Given the description of an element on the screen output the (x, y) to click on. 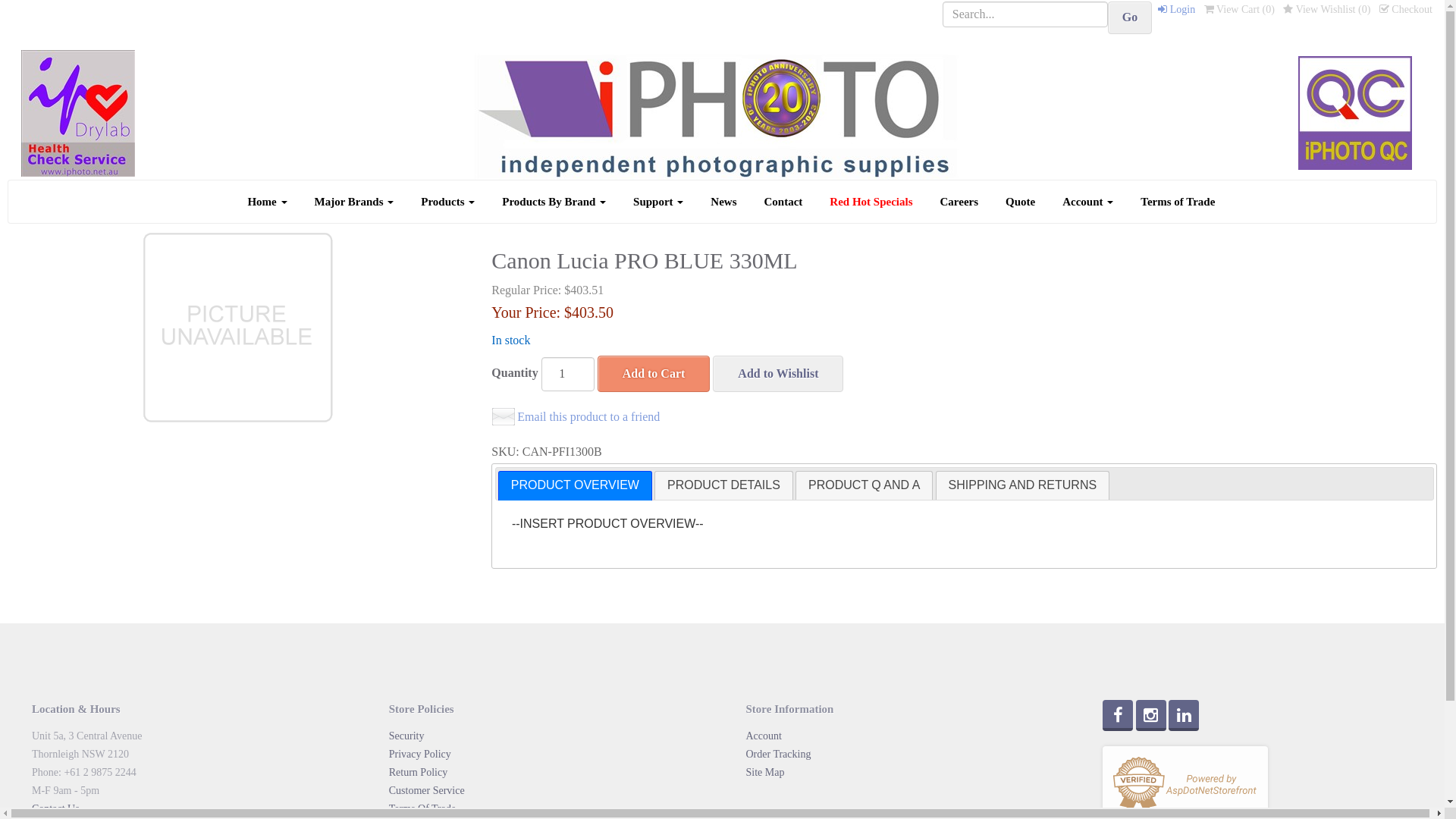
Customer Service Element type: text (426, 790)
Careers Element type: text (959, 201)
Account Element type: text (1087, 201)
View Wishlist (0) Element type: text (1326, 9)
Contact Element type: text (783, 201)
Order Tracking Element type: text (778, 753)
IPS Element type: hover (77, 111)
News Element type: text (722, 201)
Privacy Policy Element type: text (420, 753)
PRODUCT Q AND A Element type: text (863, 485)
Products Element type: text (447, 201)
Add to Wishlist Element type: text (777, 373)
Home Element type: text (266, 201)
Major Brands Element type: text (354, 201)
Account Element type: text (763, 735)
Checkout Element type: text (1405, 9)
IPS Element type: hover (1355, 111)
Add to Cart Element type: text (653, 373)
Site Map Element type: text (765, 772)
Products By Brand Element type: text (553, 201)
IPS Element type: hover (716, 111)
Security Element type: text (406, 735)
Red Hot Specials Element type: text (870, 201)
Contact Us Element type: text (55, 808)
Support Element type: text (657, 201)
Login Element type: text (1176, 9)
Go Element type: text (1129, 17)
Terms Of Trade Element type: text (422, 808)
Quote Element type: text (1019, 201)
PRODUCT OVERVIEW Element type: text (574, 485)
Return Policy Element type: text (418, 772)
View Cart (0) Element type: text (1239, 9)
Terms of Trade Element type: text (1177, 201)
Email this product to a friend Element type: text (575, 416)
PRODUCT DETAILS Element type: text (723, 485)
SHIPPING AND RETURNS Element type: text (1022, 485)
